Given the description of an element on the screen output the (x, y) to click on. 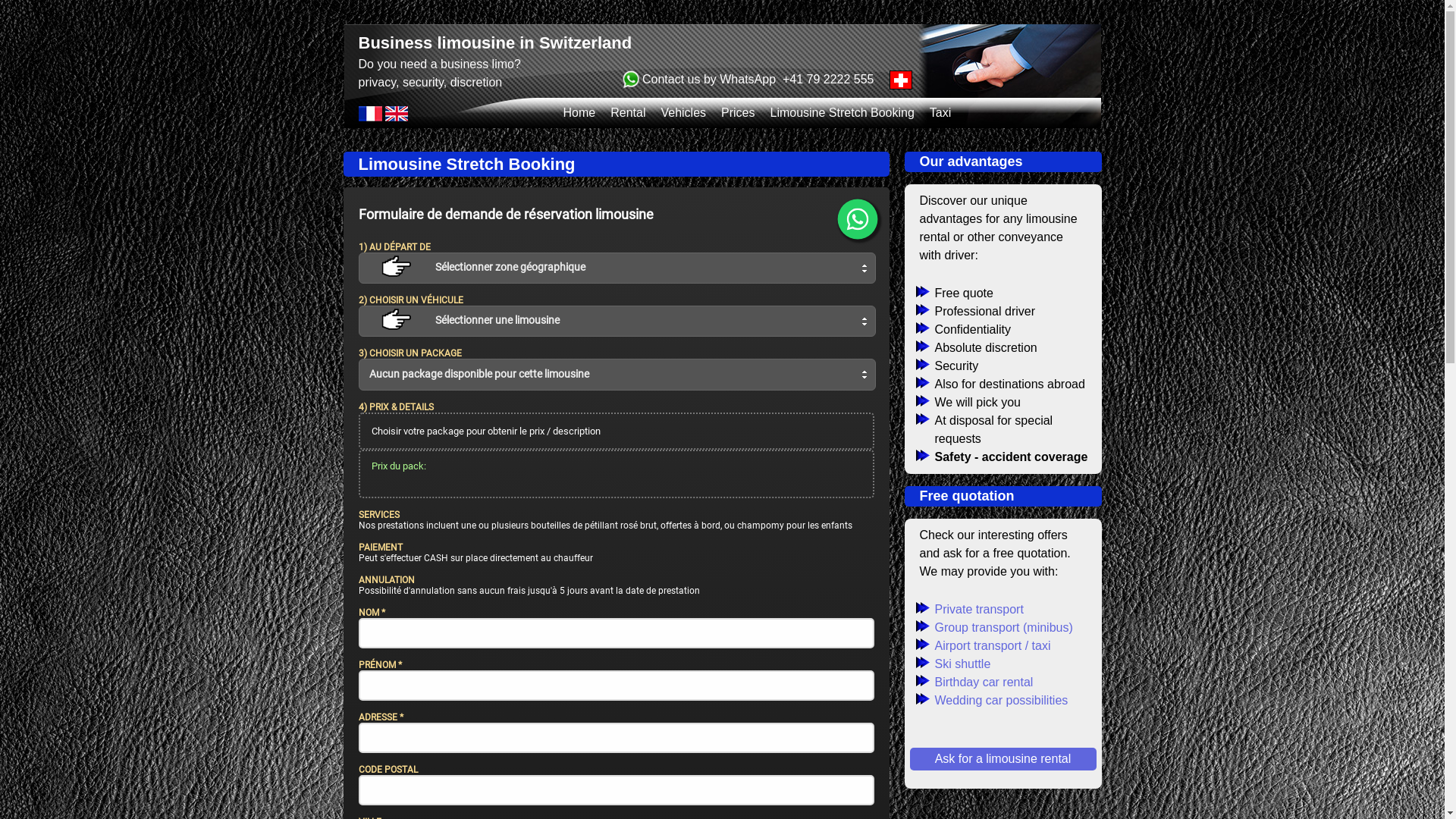
Taxi Element type: text (940, 112)
Car with driver in Switzerland Element type: hover (396, 116)
Ski shuttle Element type: text (1025, 664)
Airport transport / taxi Element type: text (1025, 646)
Vehicles Element type: text (682, 112)
Home Element type: text (578, 112)
Group transport (minibus) Element type: text (1025, 627)
Wedding car possibilities Element type: text (1025, 700)
Private transport Element type: text (1025, 609)
Ask for a limousine rental Element type: text (1003, 758)
Prices Element type: text (737, 112)
Location de limousine en Suisse Element type: hover (370, 116)
Rental Element type: text (627, 112)
Skip to main content Element type: text (54, 0)
Birthday car rental Element type: text (1025, 682)
Business limousine in Switzerland Element type: text (494, 43)
Limousine Stretch Booking Element type: text (841, 112)
